Given the description of an element on the screen output the (x, y) to click on. 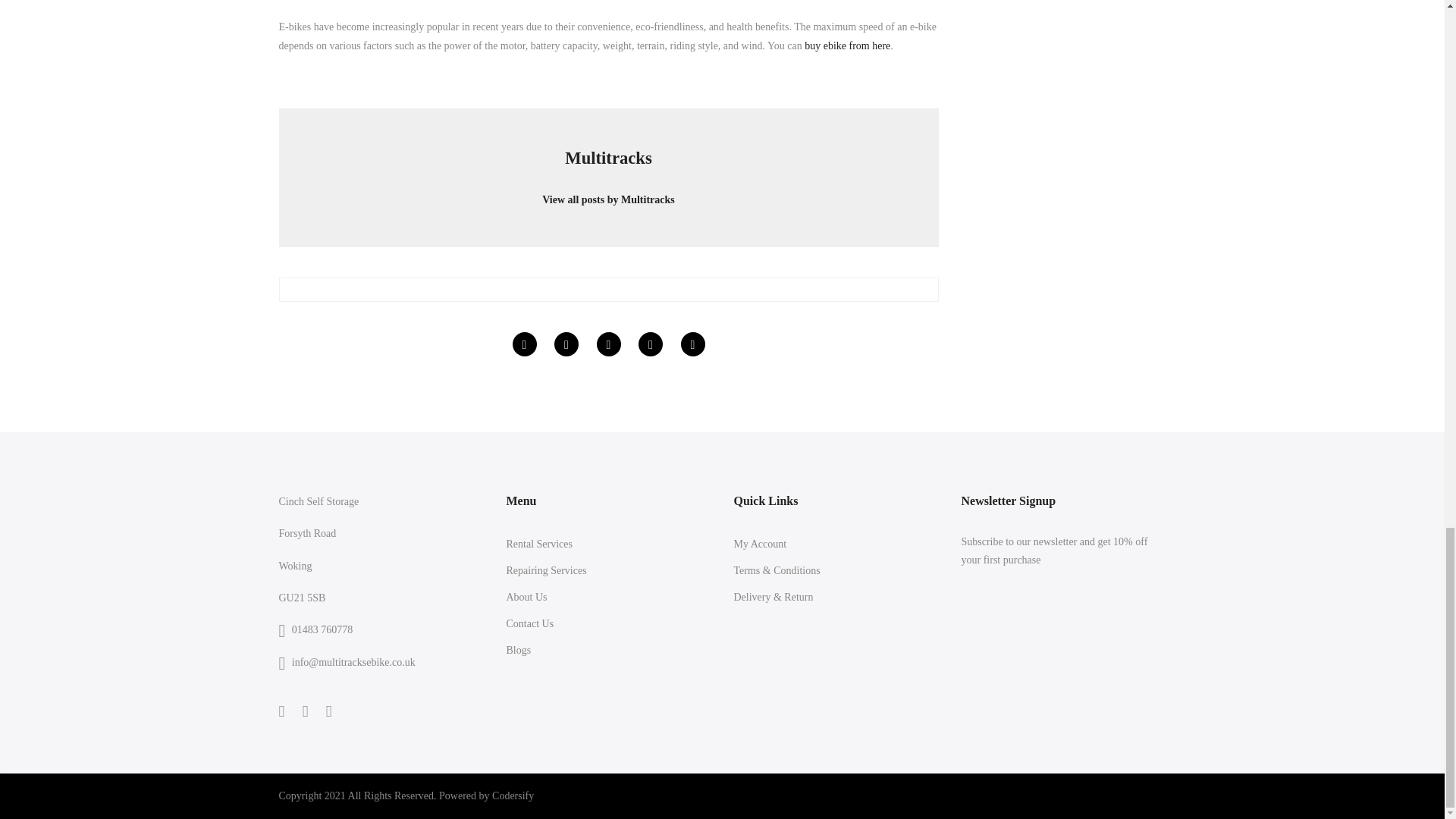
My Account (760, 543)
buy ebike from here (847, 45)
Contact Us (530, 623)
Blogs (518, 650)
About Us (526, 596)
Repairing Services (546, 570)
Rental Services (539, 543)
View all posts by Multitracks (608, 194)
